Given the description of an element on the screen output the (x, y) to click on. 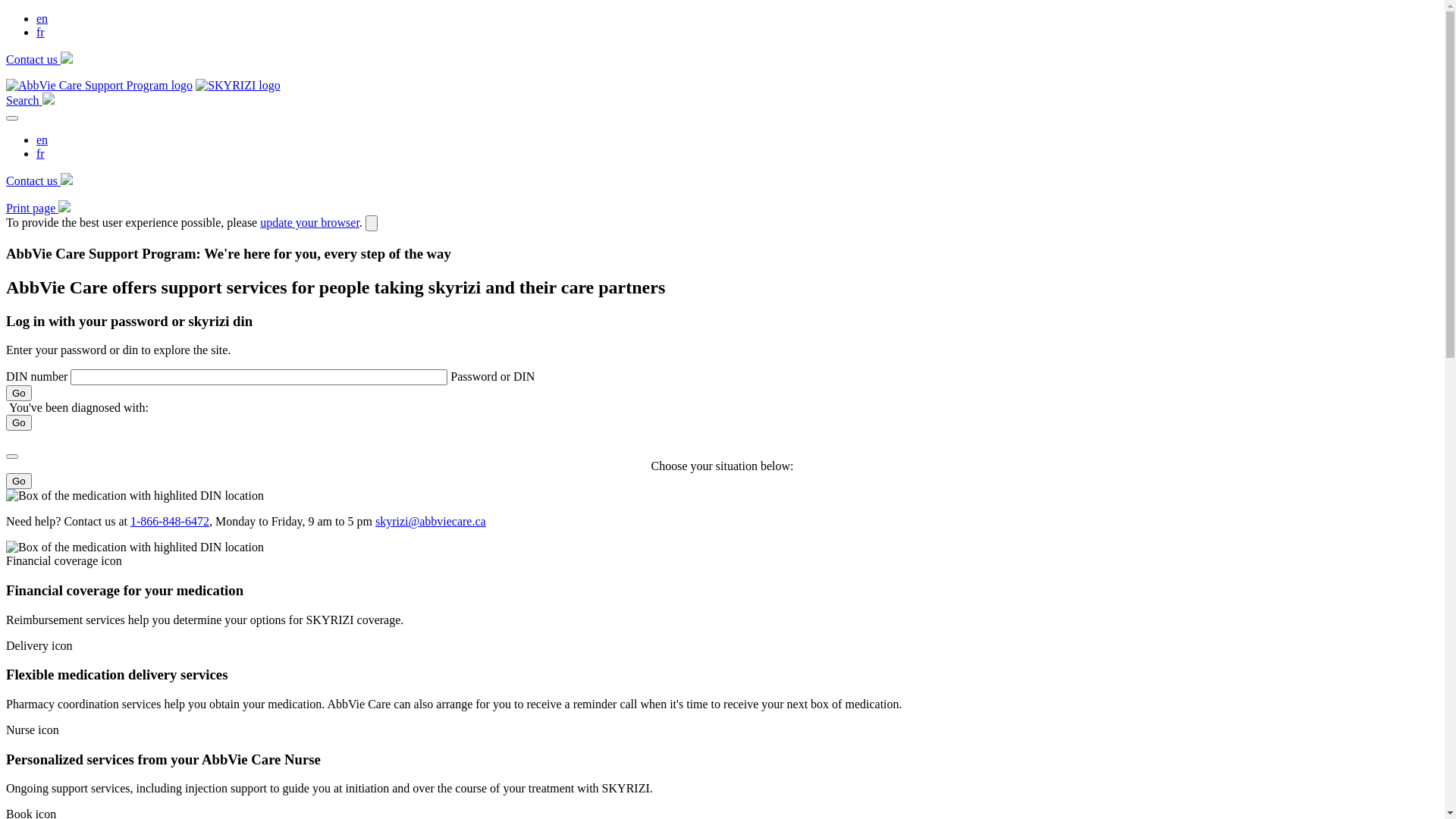
Print page Element type: text (38, 207)
en Element type: text (41, 18)
Search Element type: text (30, 100)
Go Element type: text (18, 481)
fr Element type: text (40, 31)
Go Element type: text (18, 393)
Go Element type: text (18, 422)
Contact us Element type: text (39, 59)
Contact us Element type: text (39, 180)
Skip to main content Element type: text (6, 12)
AbbVie Care Element type: hover (99, 84)
skyrizi@abbviecare.ca Element type: text (430, 520)
1-866-848-6472 Element type: text (169, 520)
SKYRIZI Login Element type: hover (237, 84)
update your browser Element type: text (309, 222)
fr Element type: text (40, 153)
en Element type: text (41, 139)
